Given the description of an element on the screen output the (x, y) to click on. 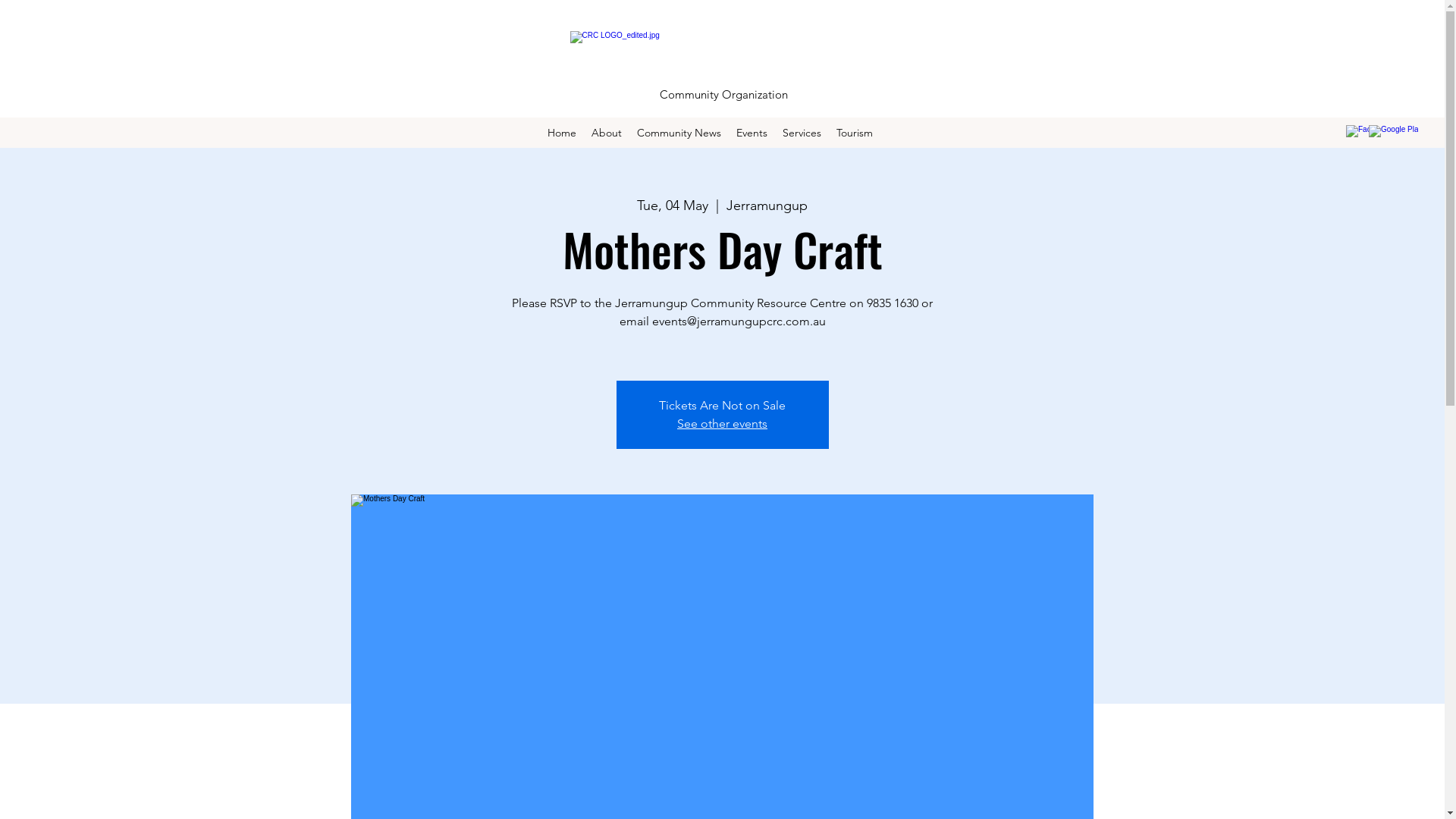
Services Element type: text (801, 132)
Community News Element type: text (678, 132)
Tourism Element type: text (854, 132)
Events Element type: text (751, 132)
About Element type: text (606, 132)
Home Element type: text (561, 132)
See other events Element type: text (722, 423)
